Given the description of an element on the screen output the (x, y) to click on. 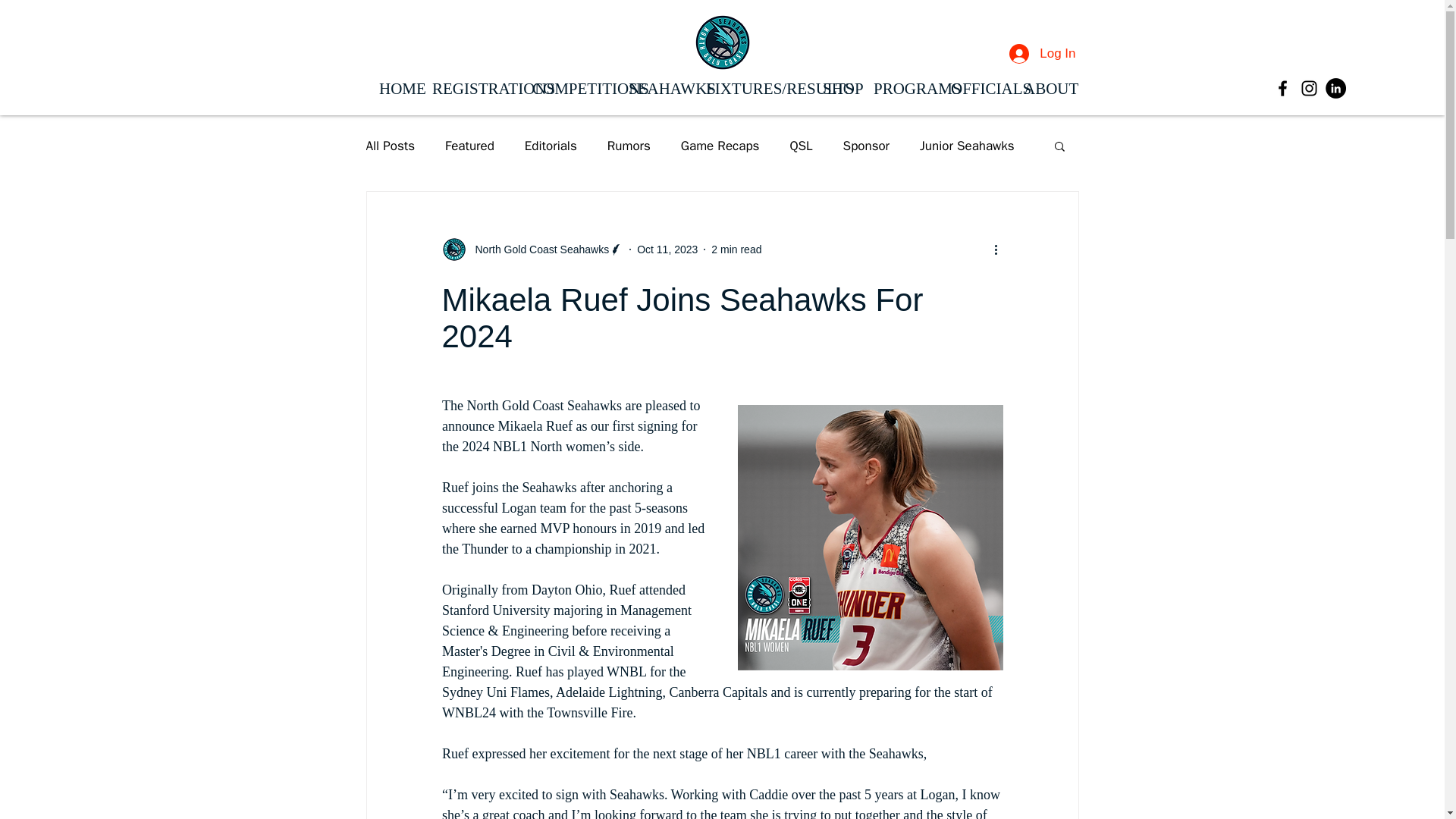
HOME (398, 86)
SHOP (840, 86)
2 min read (736, 248)
Oct 11, 2023 (667, 248)
Game Recaps (720, 144)
REGISTRATIONS (474, 86)
All Posts (389, 144)
Editorials (550, 144)
Sponsor (866, 144)
Log In (1042, 53)
QSL (800, 144)
Junior Seahawks (967, 144)
Rumors (628, 144)
Featured (470, 144)
North Gold Coast Seahawks (536, 248)
